Given the description of an element on the screen output the (x, y) to click on. 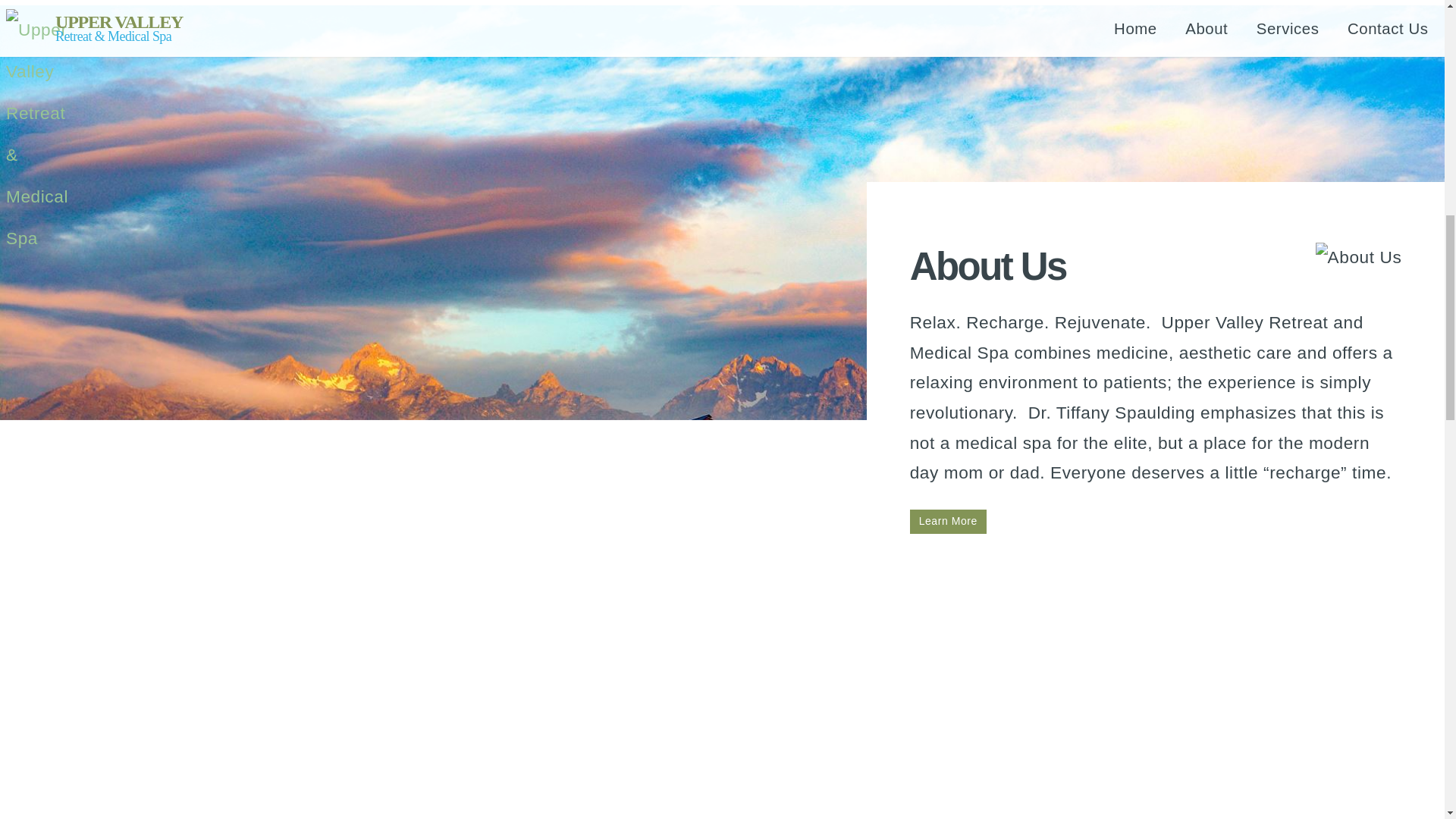
Dr. Tiffany Spaulding (948, 521)
Learn More (948, 521)
Next (722, 734)
